Given the description of an element on the screen output the (x, y) to click on. 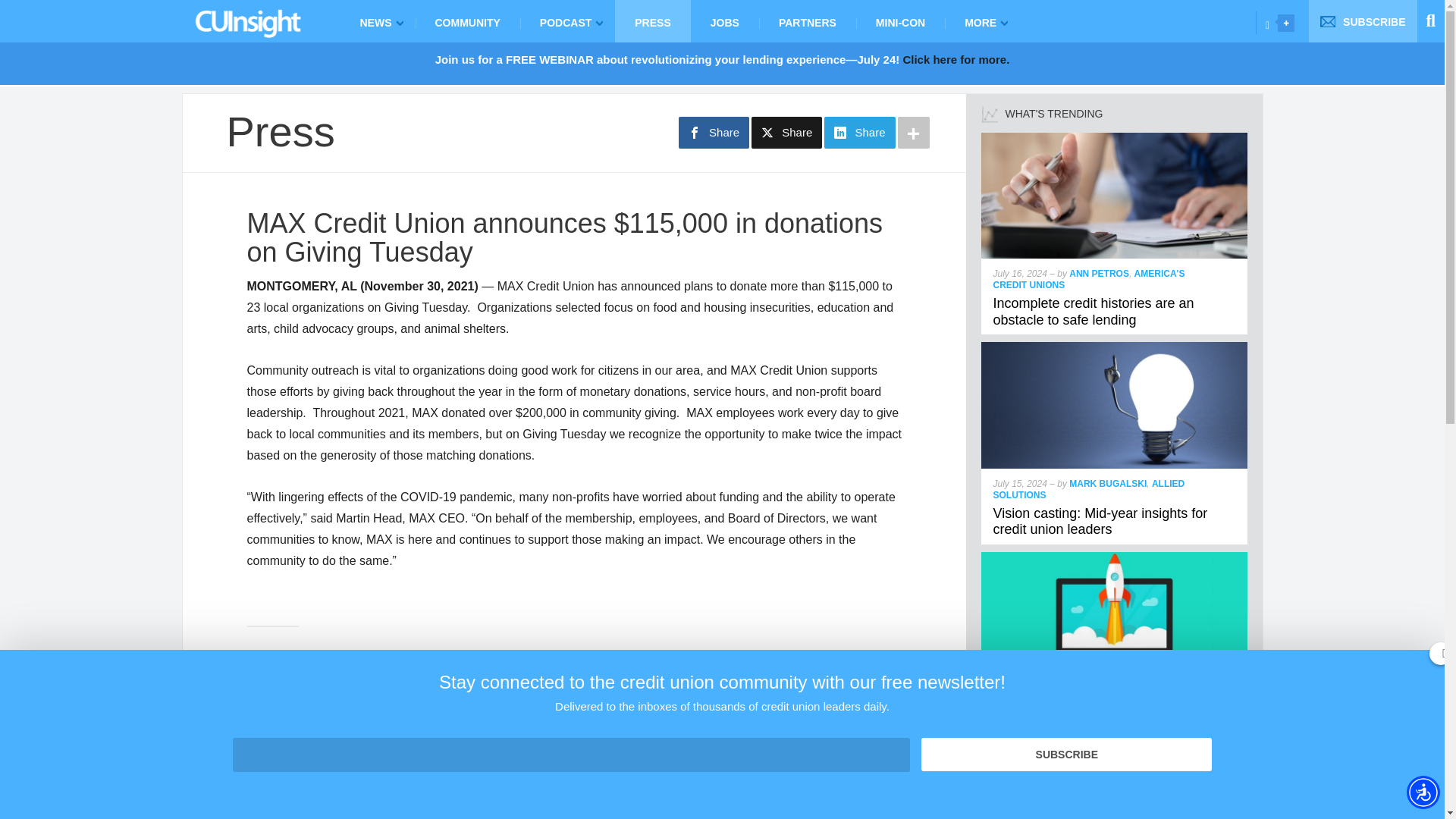
COMMUNITY (466, 21)
Vision casting: Mid-year insights for credit union leaders (1100, 521)
PARTNERS (807, 21)
Vision casting: Mid-year insights for credit union leaders (1114, 348)
Share (713, 132)
MORE (982, 21)
Share (786, 132)
Subscribe (1066, 754)
Share (859, 132)
SUBSCRIBE (1362, 21)
Opener (1286, 22)
PODCAST (566, 21)
JOBS (724, 21)
